Given the description of an element on the screen output the (x, y) to click on. 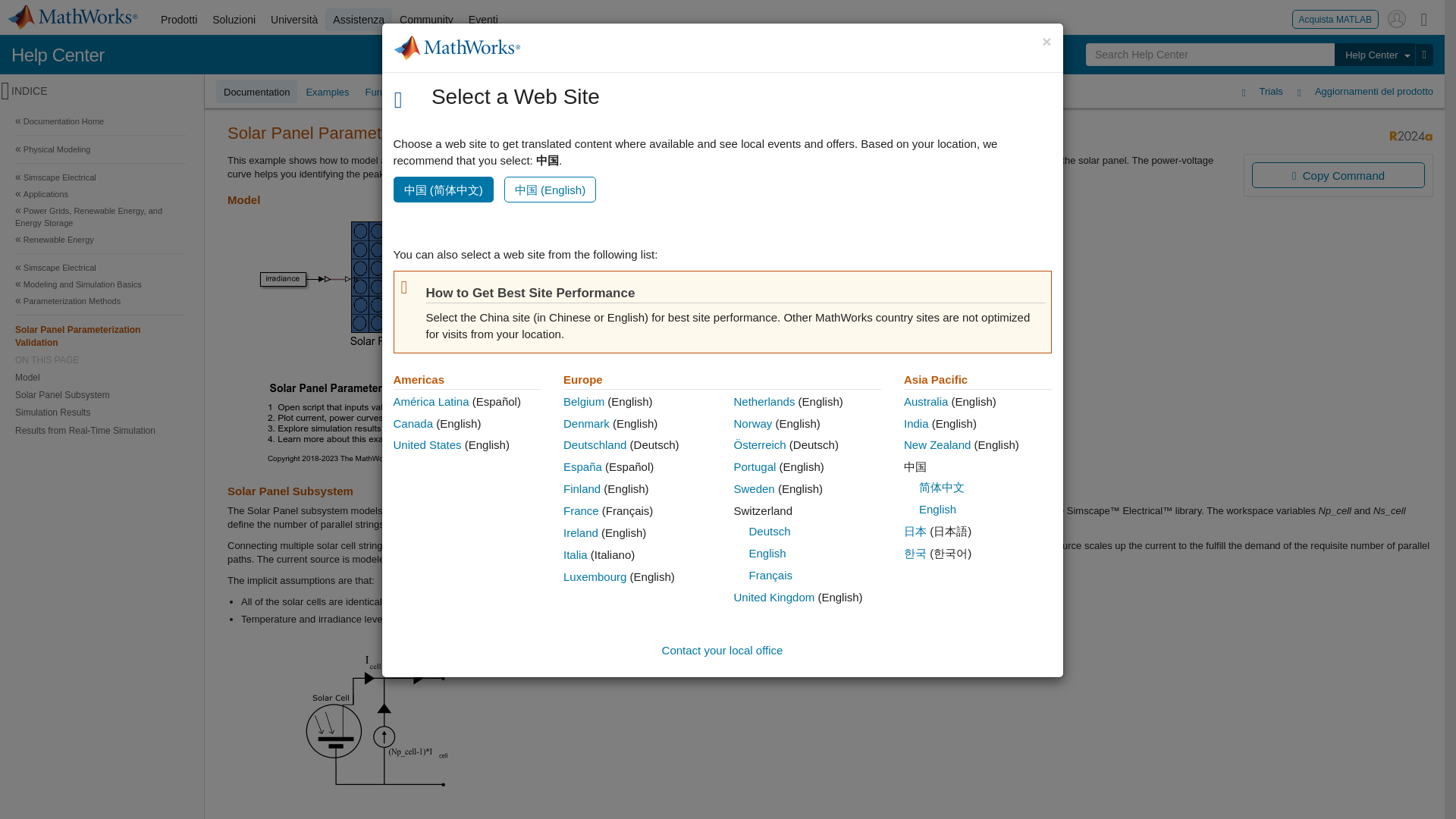
Solar Panel Parameterization Validation (100, 335)
Soluzioni (234, 19)
Acquista MATLAB (1335, 18)
Prodotti (178, 19)
Matrix Menu (1423, 18)
Assistenza (357, 19)
ON THIS PAGE (100, 359)
Eventi (483, 19)
Accedere al proprio MathWorks Account (1396, 18)
Community (426, 19)
